Given the description of an element on the screen output the (x, y) to click on. 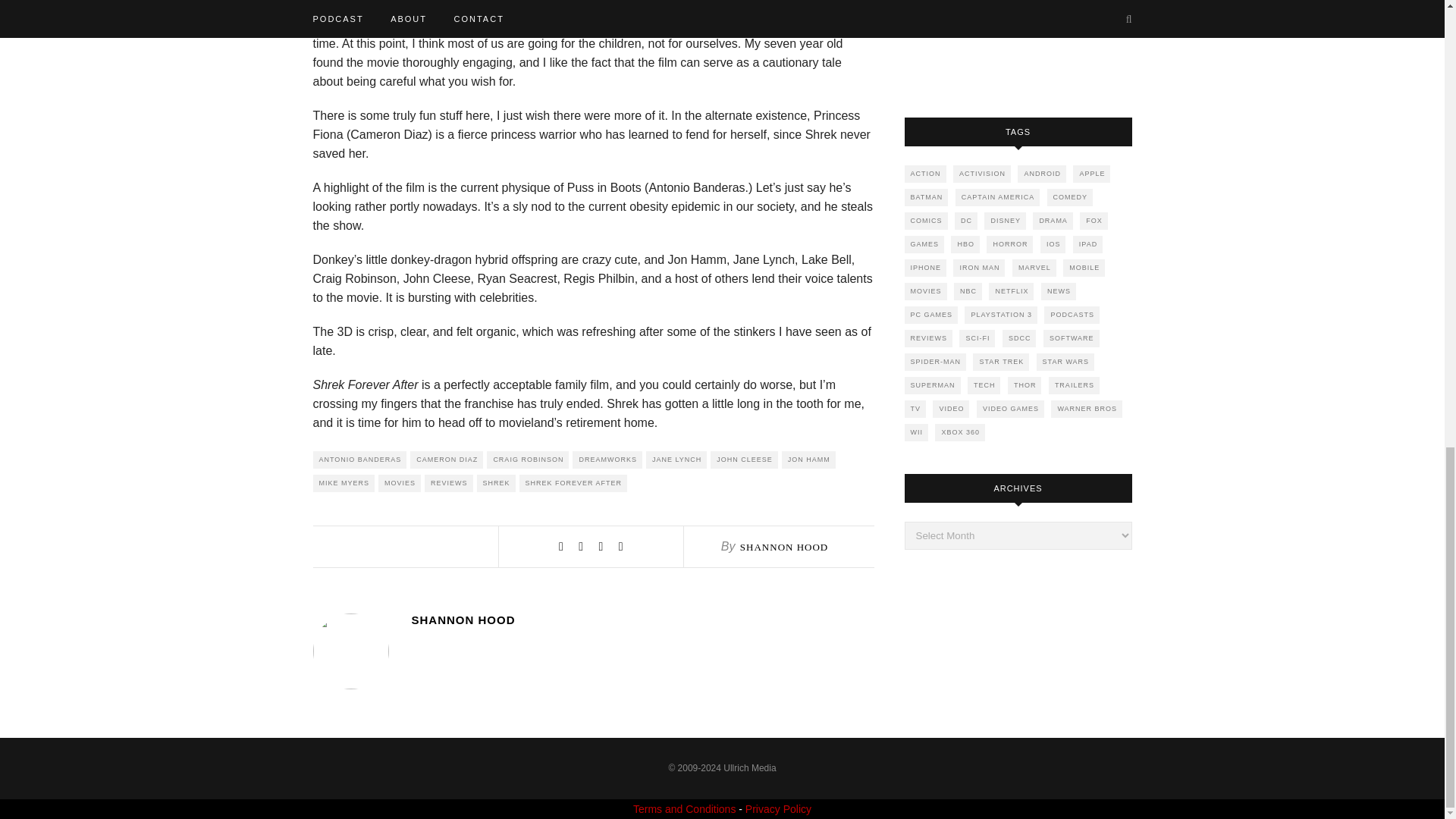
SHANNON HOOD (783, 546)
MOVIES (399, 483)
DREAMWORKS (607, 459)
MIKE MYERS (343, 483)
CAMERON DIAZ (446, 459)
JANE LYNCH (676, 459)
JON HAMM (808, 459)
Posts by Shannon Hood (783, 546)
REVIEWS (449, 483)
ANTONIO BANDERAS (359, 459)
